Given the description of an element on the screen output the (x, y) to click on. 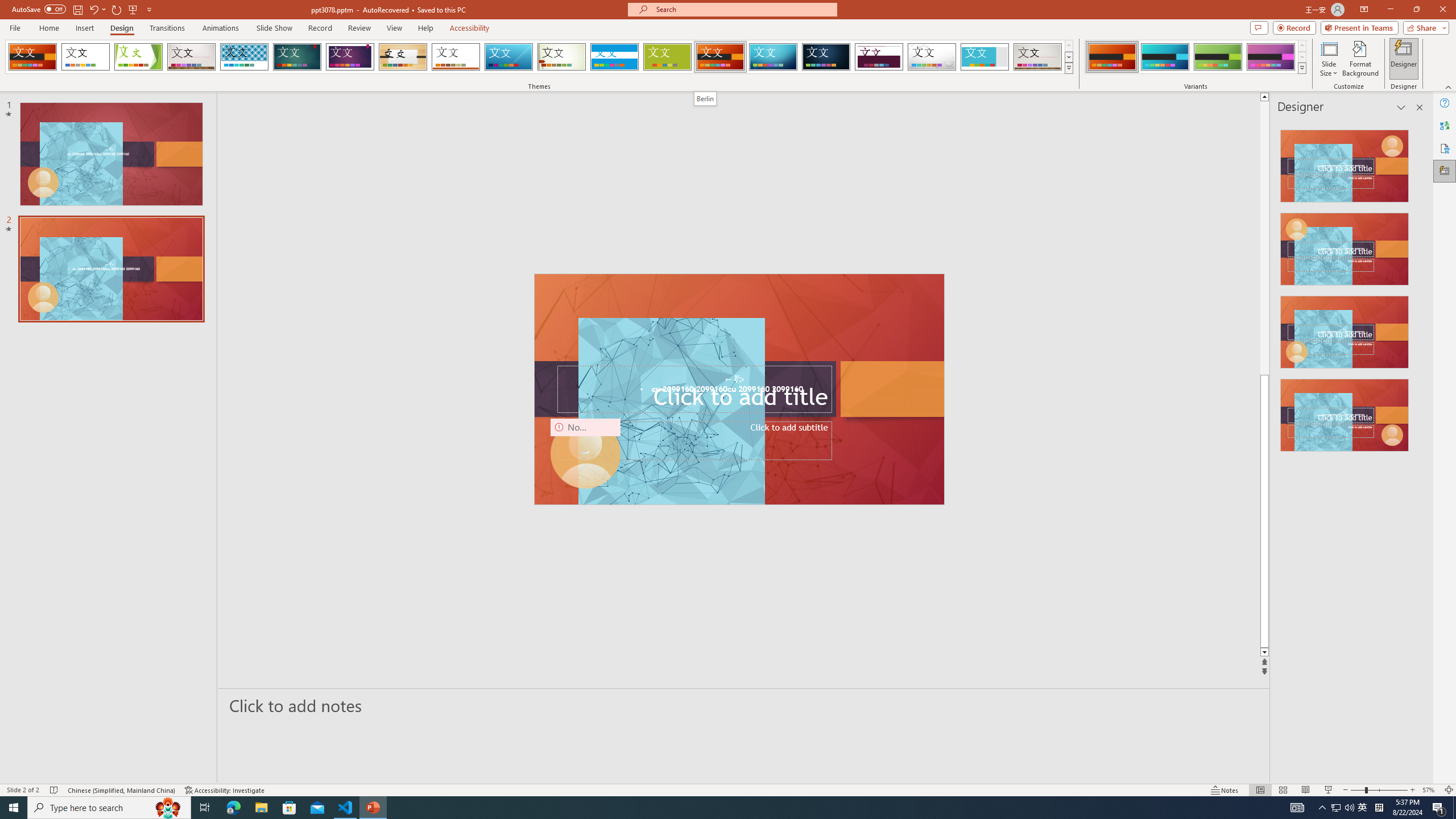
Slide Notes (743, 705)
Integral (244, 56)
Berlin (705, 98)
Basis (667, 56)
Slice (508, 56)
Berlin Variant 2 (1164, 56)
Retrospect (455, 56)
